Given the description of an element on the screen output the (x, y) to click on. 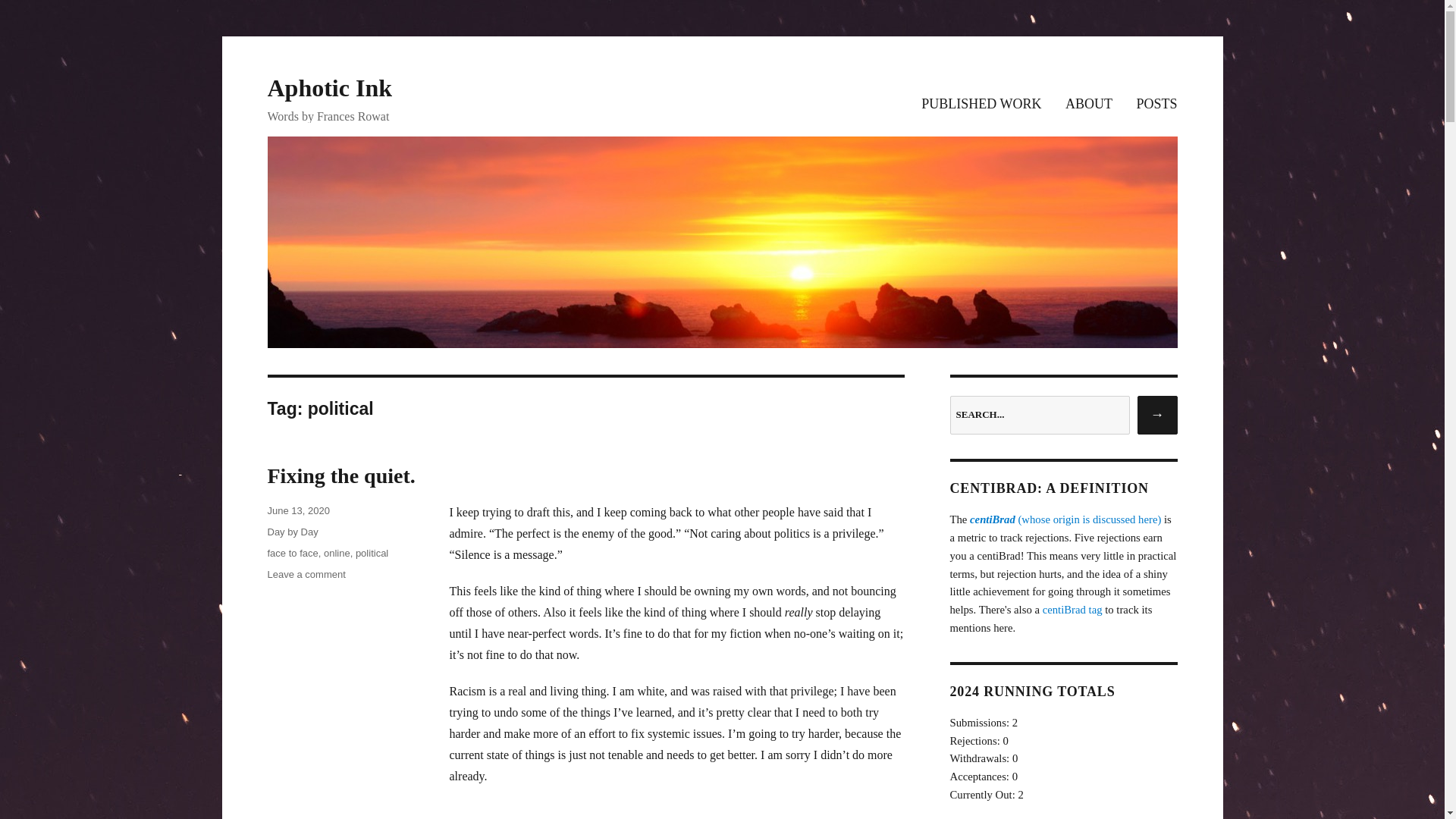
Aphotic Ink (305, 573)
online (328, 87)
ABOUT (336, 552)
political (1076, 104)
Day by Day (371, 552)
face to face (291, 531)
Fixing the quiet. (291, 552)
June 13, 2020 (340, 475)
PUBLISHED WORK (297, 510)
